Given the description of an element on the screen output the (x, y) to click on. 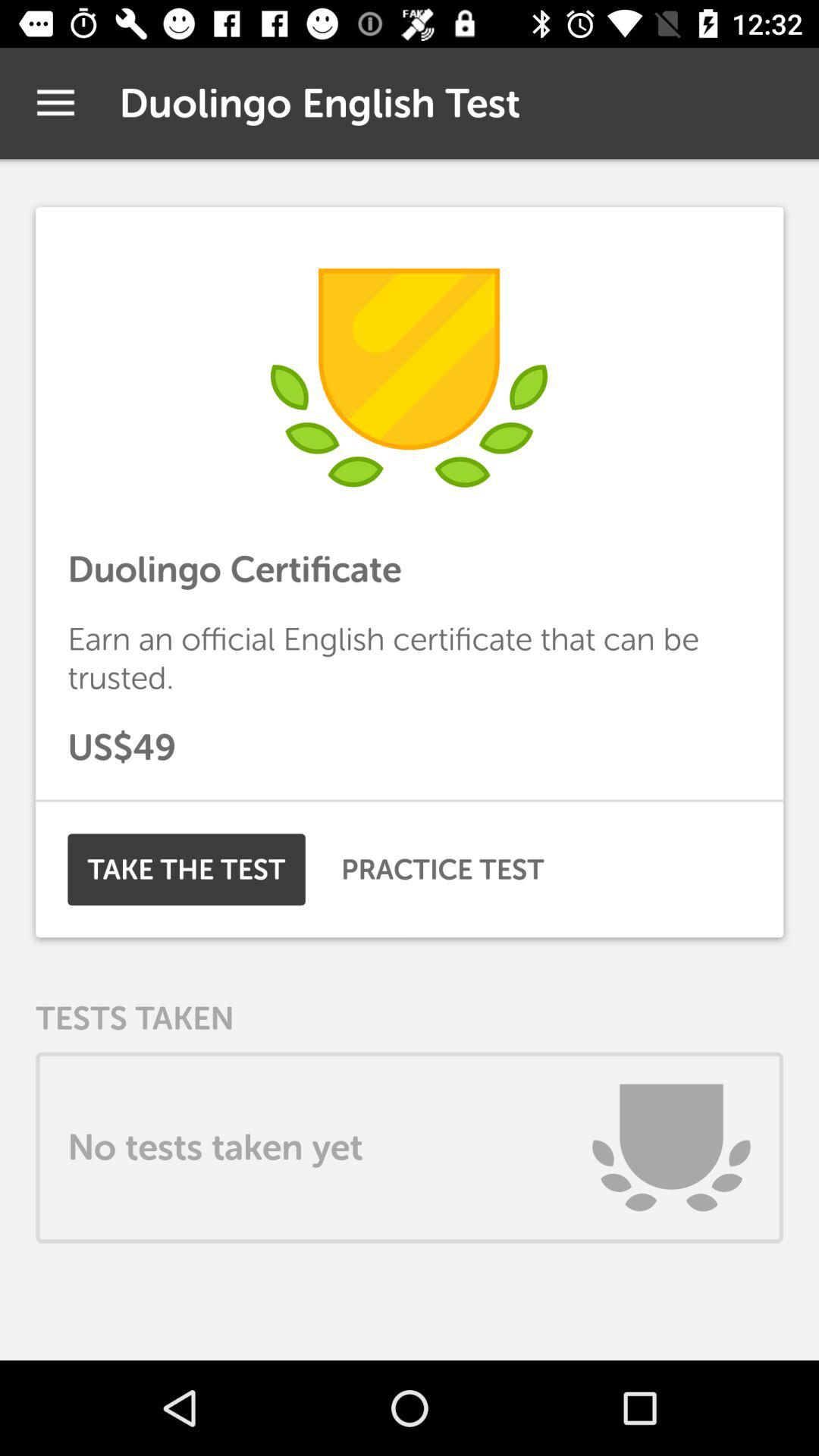
launch the take the test icon (186, 869)
